Given the description of an element on the screen output the (x, y) to click on. 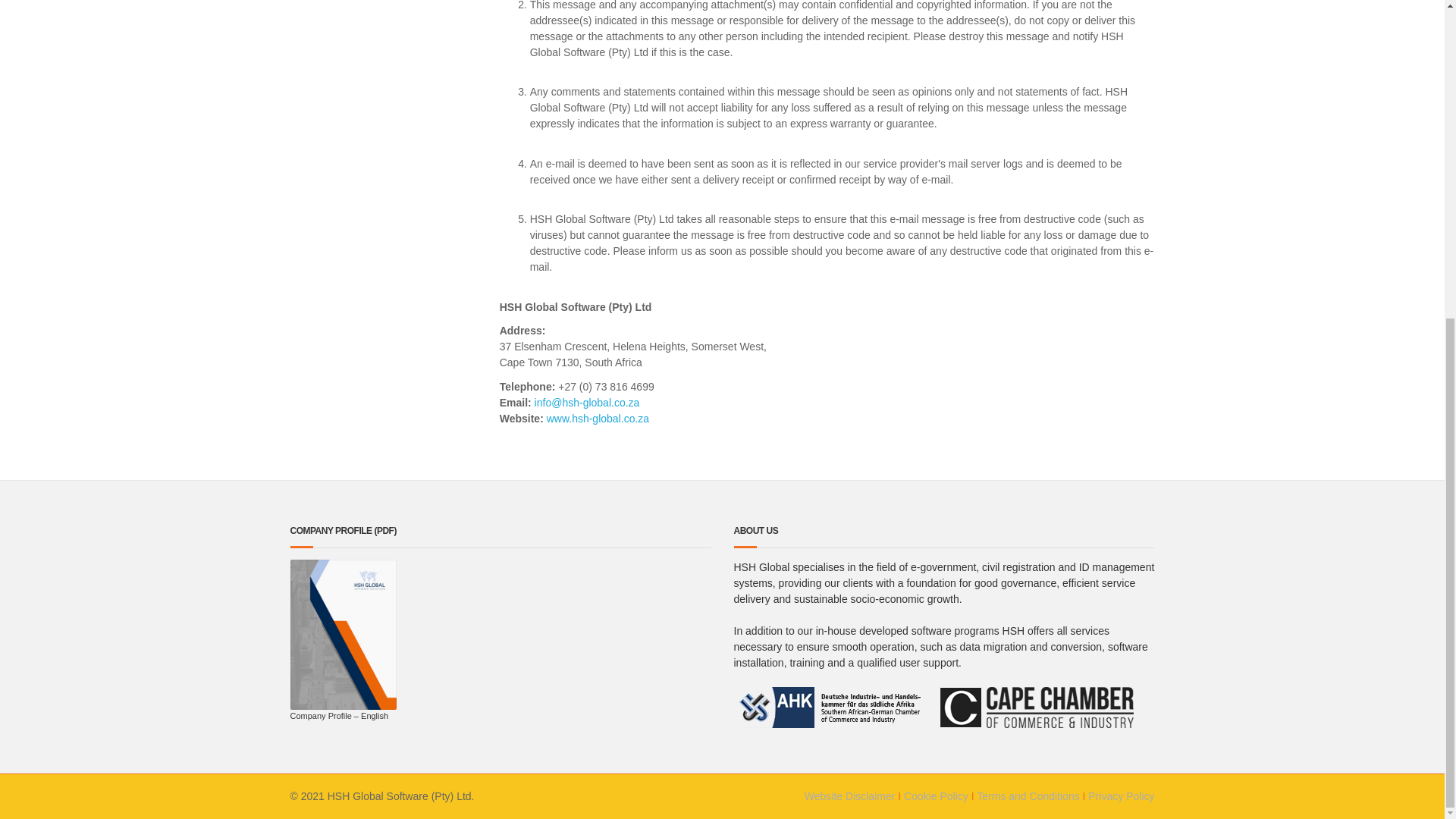
Cookie Policy (936, 796)
Website Disclaimer (850, 796)
www.hsh-global.co.za (598, 417)
Terms and Conditions (1027, 796)
Privacy Policy (1120, 796)
